Given the description of an element on the screen output the (x, y) to click on. 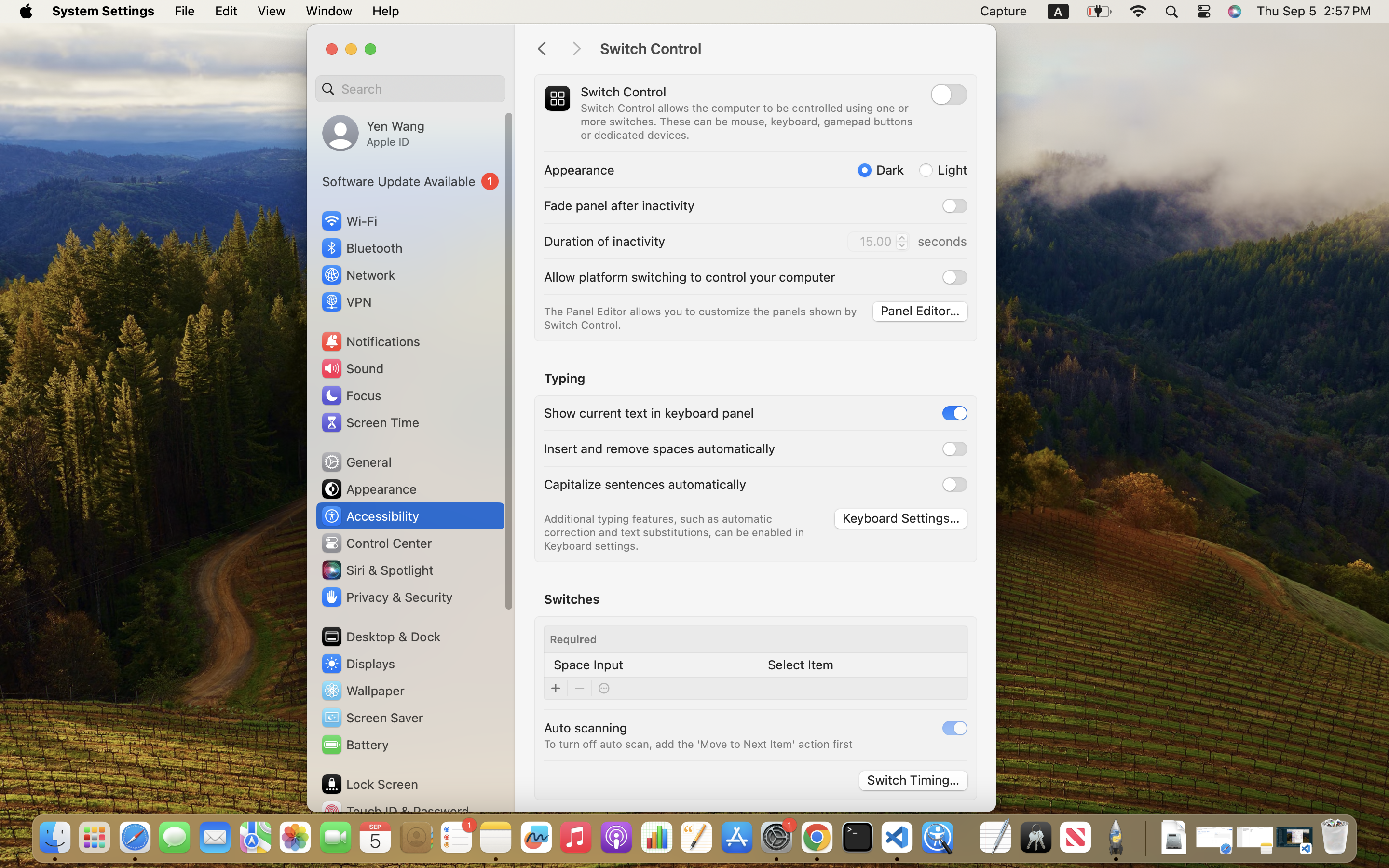
Screen Saver Element type: AXStaticText (371, 717)
To turn off auto scan, add the 'Move to Next Item' action first Element type: AXStaticText (698, 743)
Insert and remove spaces automatically Element type: AXStaticText (659, 448)
Privacy & Security Element type: AXStaticText (386, 596)
